Given the description of an element on the screen output the (x, y) to click on. 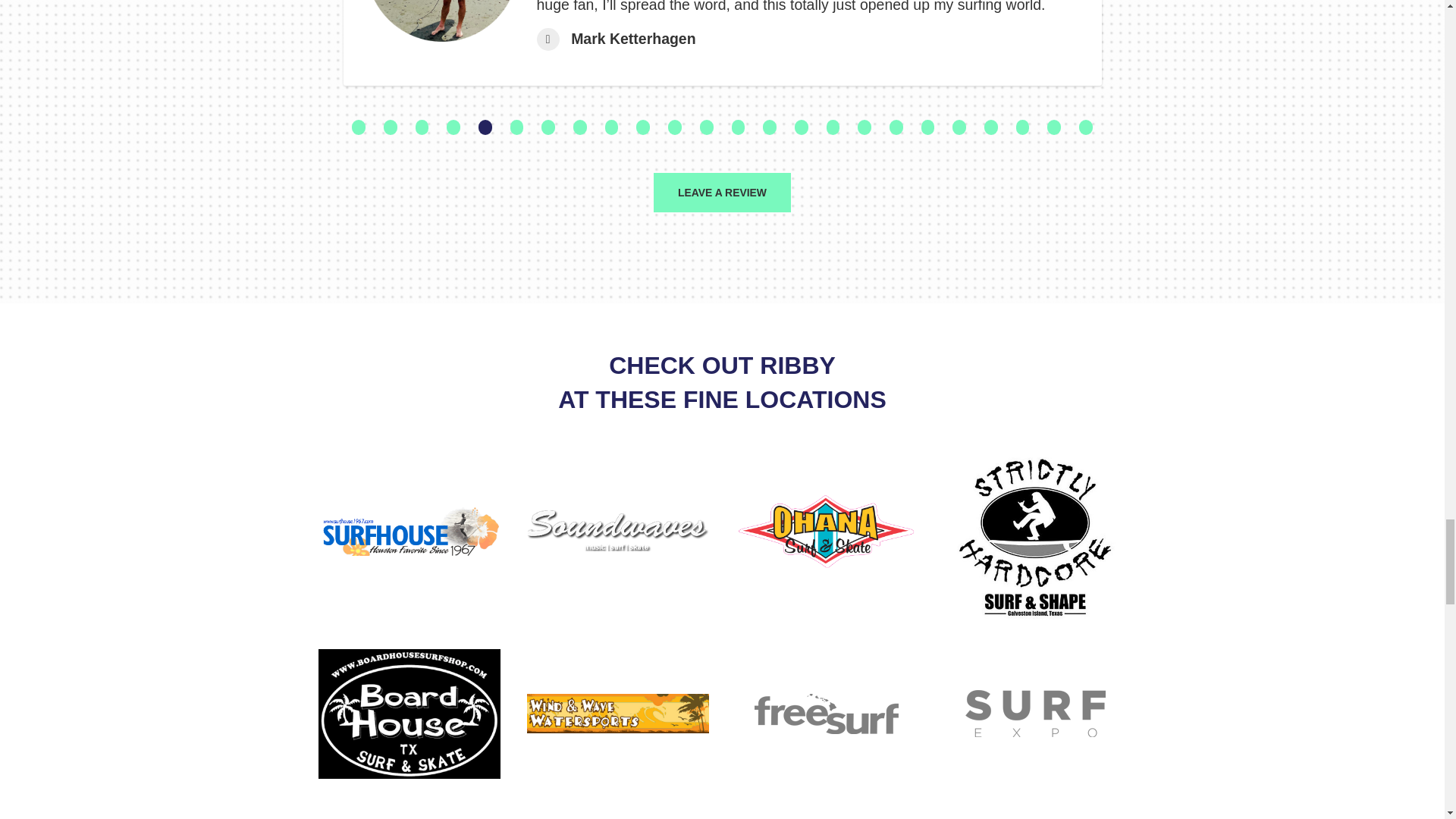
LEAVE A REVIEW (721, 192)
